Given the description of an element on the screen output the (x, y) to click on. 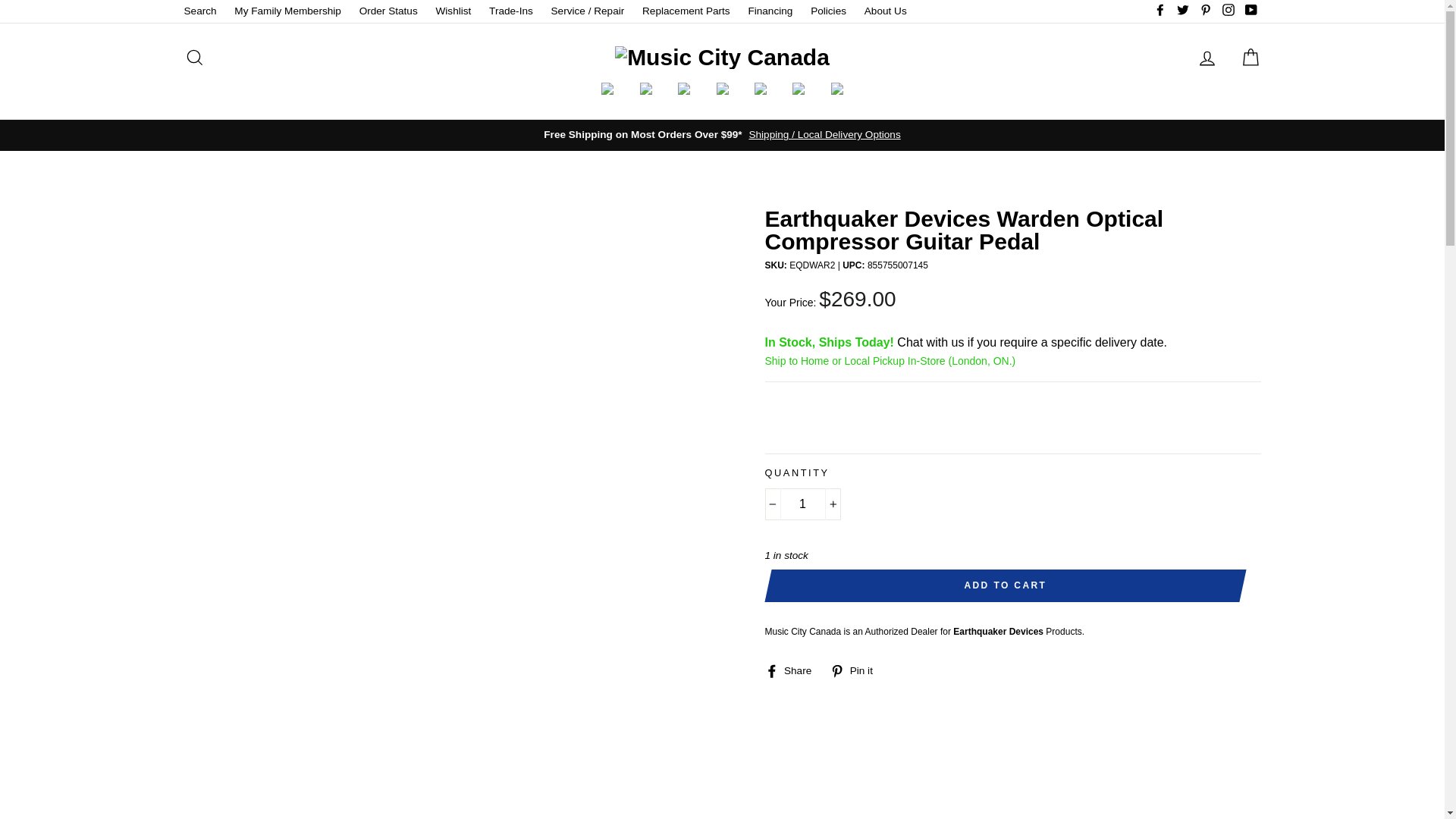
Pin on Pinterest (856, 670)
Earthquaker Devices (998, 631)
1 (802, 504)
Share on Facebook (793, 670)
